Given the description of an element on the screen output the (x, y) to click on. 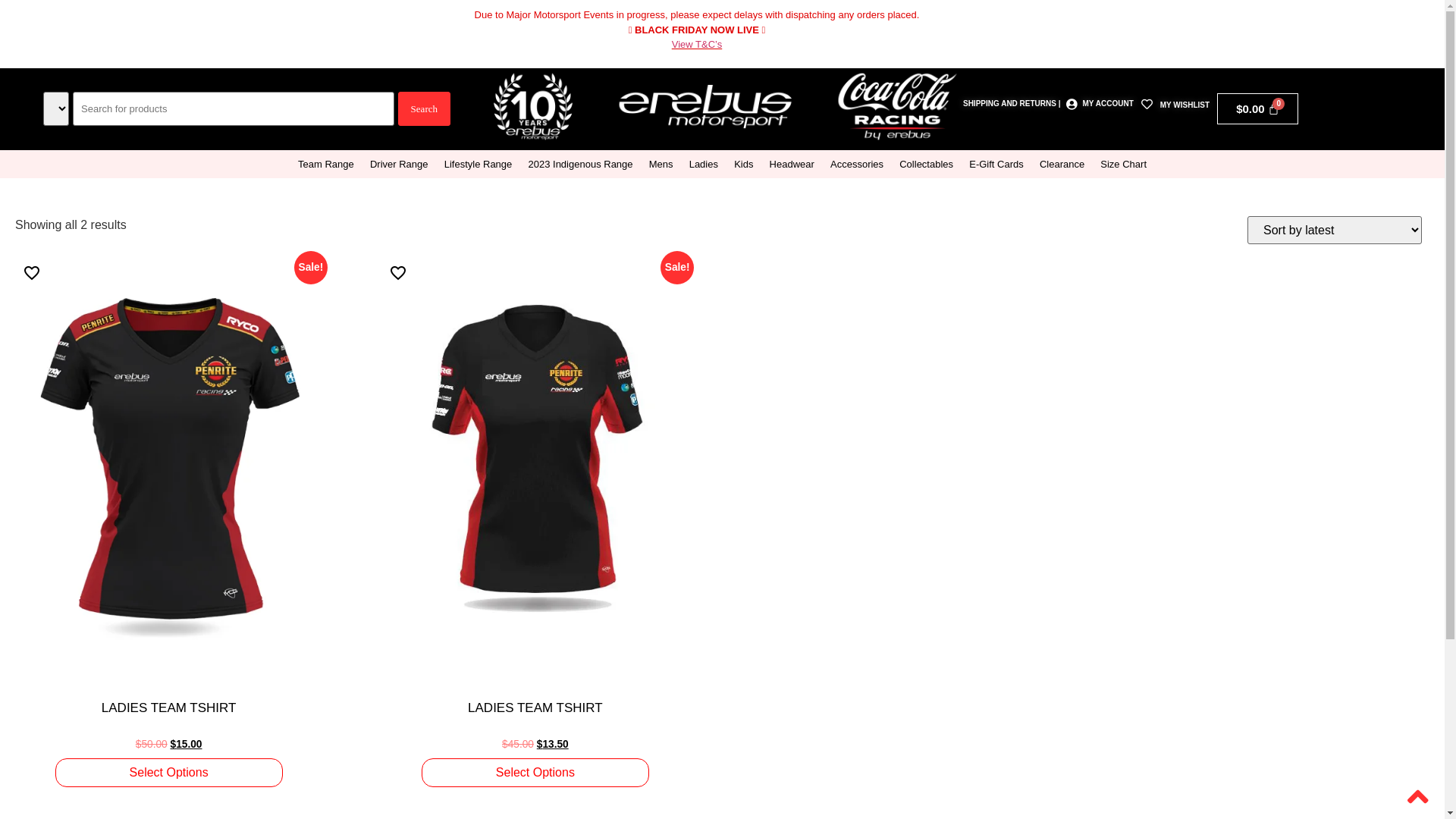
Lifestyle Range Element type: text (478, 164)
Add to wishlist Element type: text (31, 272)
Ladies Element type: text (702, 164)
Kids Element type: text (743, 164)
Accessories Element type: text (856, 164)
Mens Element type: text (660, 164)
Search Element type: text (424, 108)
$0.00 Element type: text (1257, 108)
Size Chart Element type: text (1123, 164)
Search Element type: hover (424, 108)
MY ACCOUNT Element type: text (1107, 103)
Headwear Element type: text (791, 164)
Sale!
LADIES TEAM TSHIRT
$50.00 $15.00 Element type: text (168, 507)
Clearance Element type: text (1061, 164)
Add to wishlist Element type: text (398, 272)
2023 Indigenous Range Element type: text (580, 164)
Collectables Element type: text (926, 164)
Select Options Element type: text (535, 772)
Sale!
LADIES TEAM TSHIRT
$45.00 $13.50 Element type: text (534, 507)
E-Gift Cards Element type: text (996, 164)
Driver Range Element type: text (398, 164)
Team Range Element type: text (325, 164)
SHIPPING AND RETURNS Element type: text (1009, 103)
Select Options Element type: text (168, 772)
MY WISHLIST Element type: text (1184, 104)
